Given the description of an element on the screen output the (x, y) to click on. 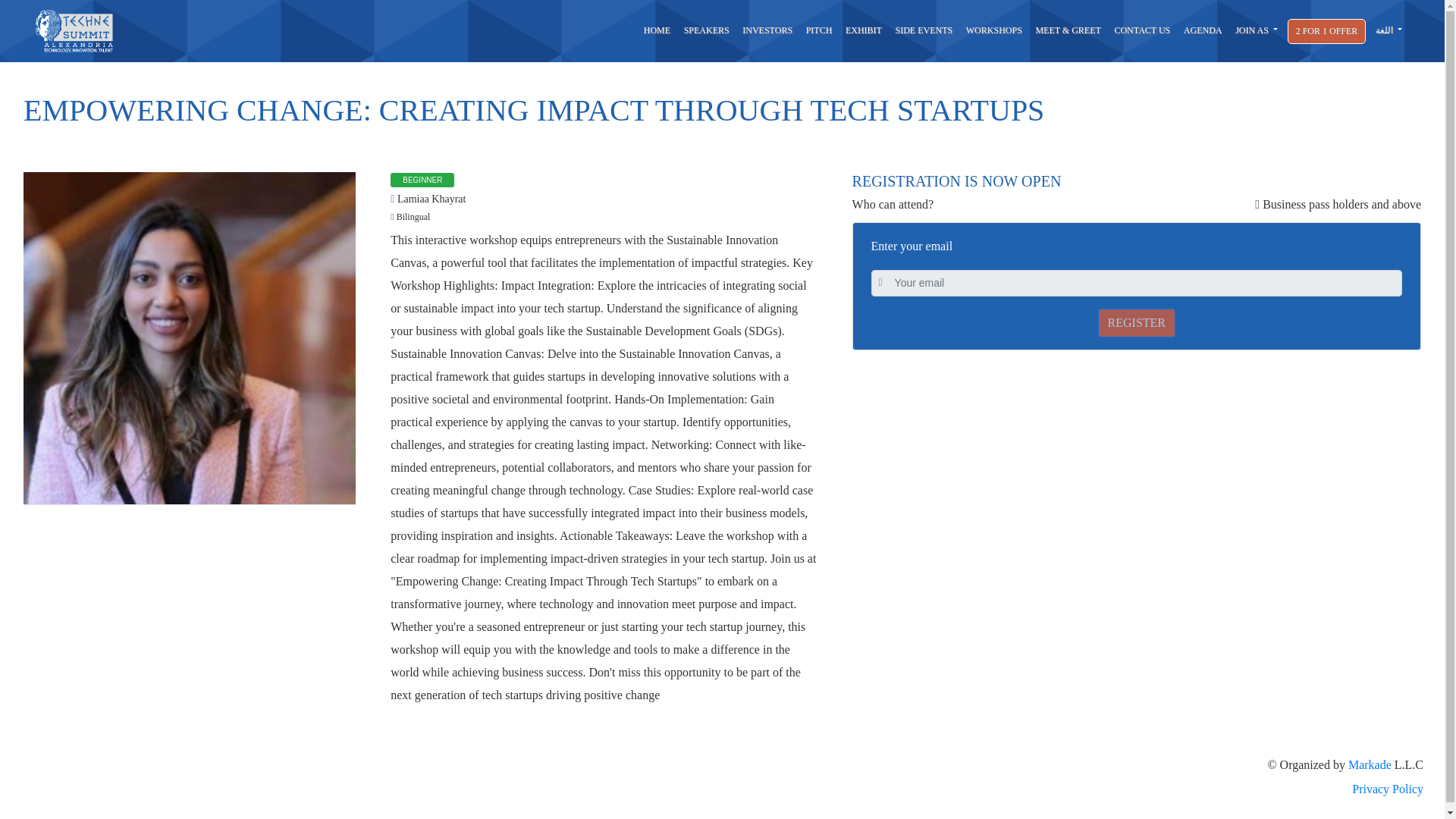
CONTACT US (1141, 29)
AGENDA (1202, 29)
REGISTER (1135, 322)
2 FOR 1 OFFER (1327, 30)
HOME (657, 29)
Privacy Policy (722, 789)
Markade (1369, 764)
JOIN AS (1256, 29)
SIDE EVENTS (923, 29)
EXHIBIT (863, 29)
PITCH (818, 29)
privacy-policy (722, 789)
WORKSHOPS (994, 29)
INVESTORS (766, 29)
SPEAKERS (706, 29)
